Given the description of an element on the screen output the (x, y) to click on. 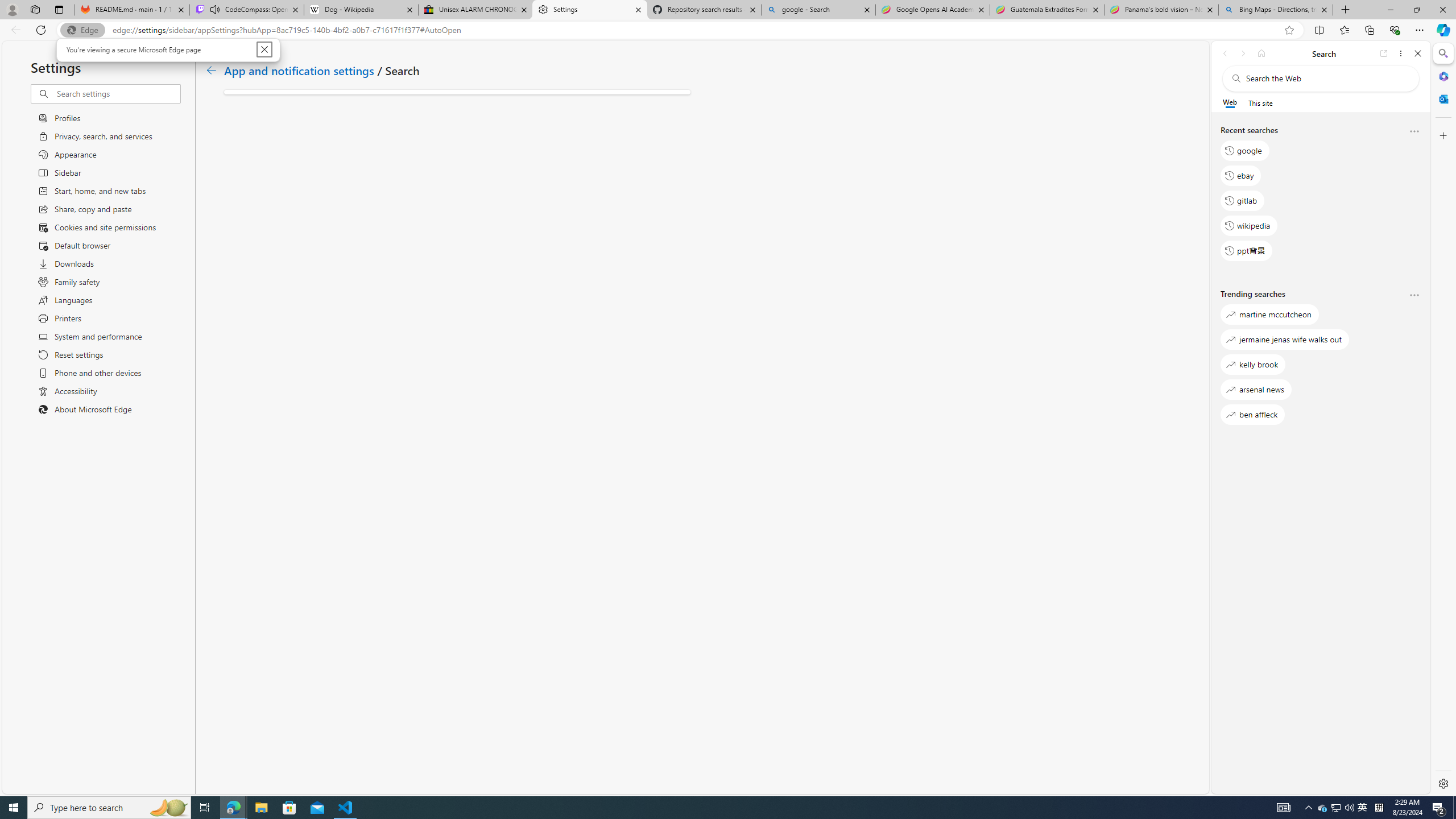
kelly brook (1252, 364)
Running applications (700, 807)
Search settings (117, 93)
google (1244, 150)
